Given the description of an element on the screen output the (x, y) to click on. 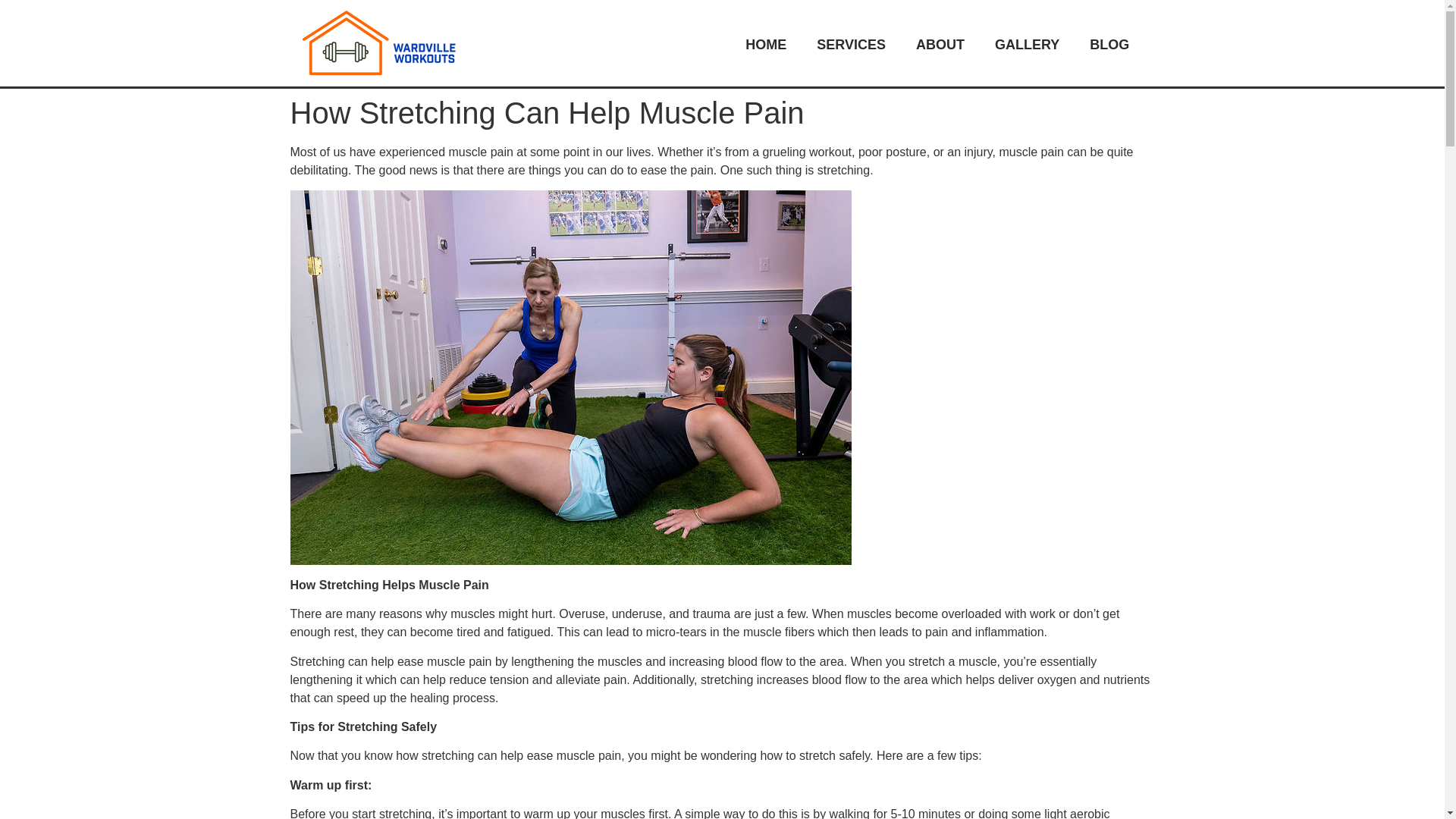
GALLERY (1026, 43)
ABOUT (940, 43)
BLOG (1109, 43)
HOME (766, 43)
SERVICES (851, 43)
